Given the description of an element on the screen output the (x, y) to click on. 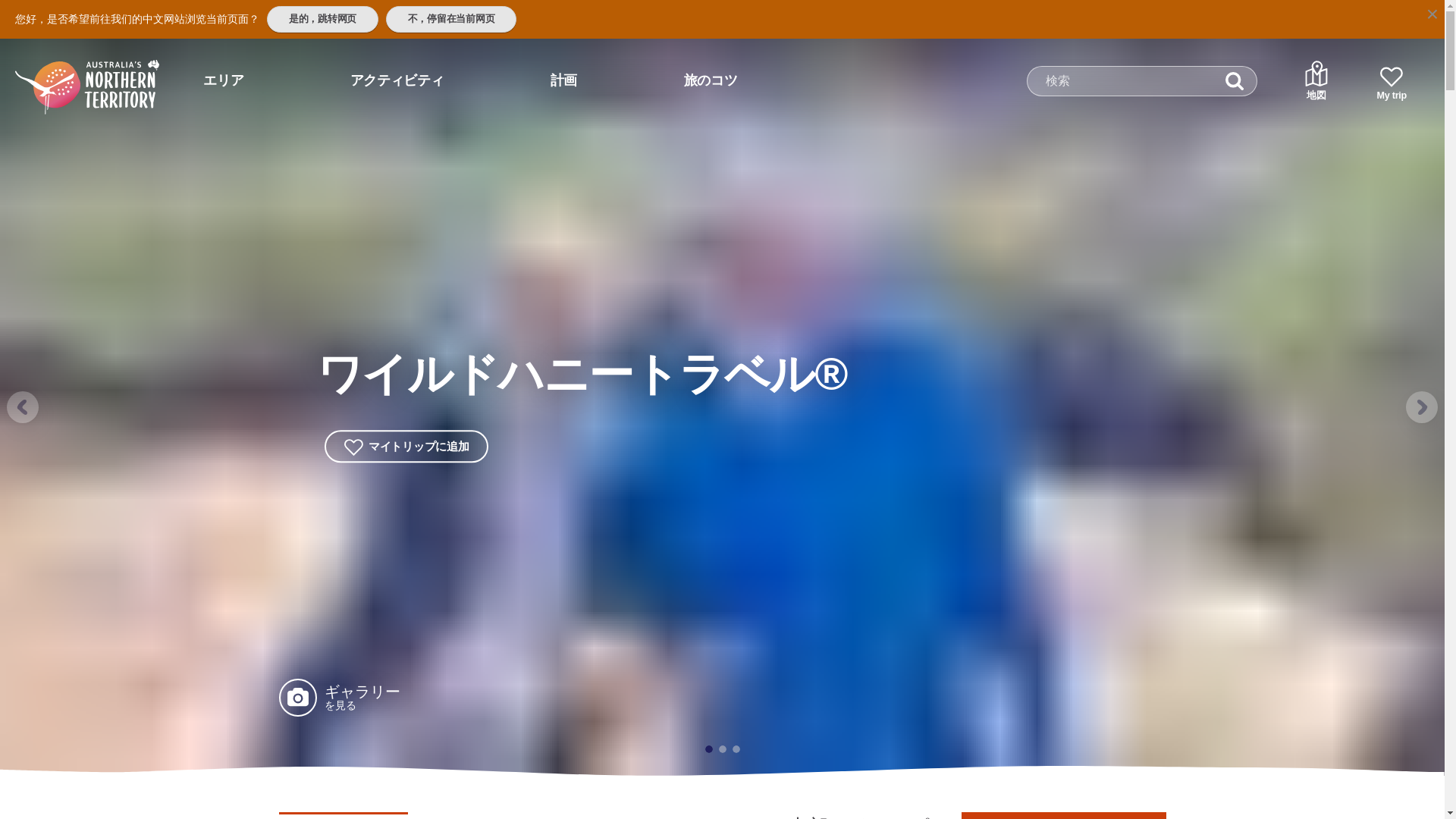
Home (67, 73)
